Given the description of an element on the screen output the (x, y) to click on. 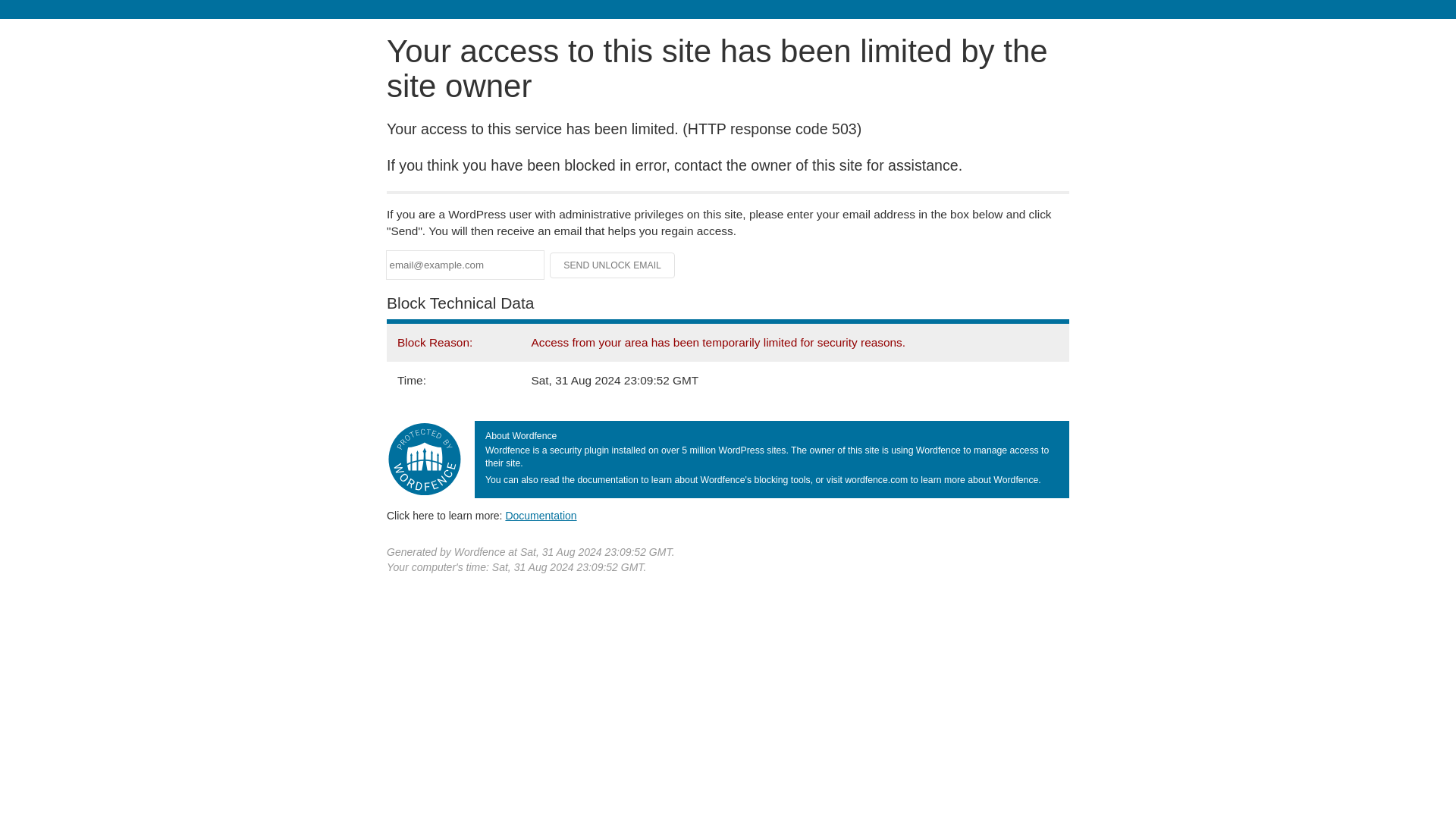
Documentation (540, 515)
Send Unlock Email (612, 265)
Send Unlock Email (612, 265)
